Given the description of an element on the screen output the (x, y) to click on. 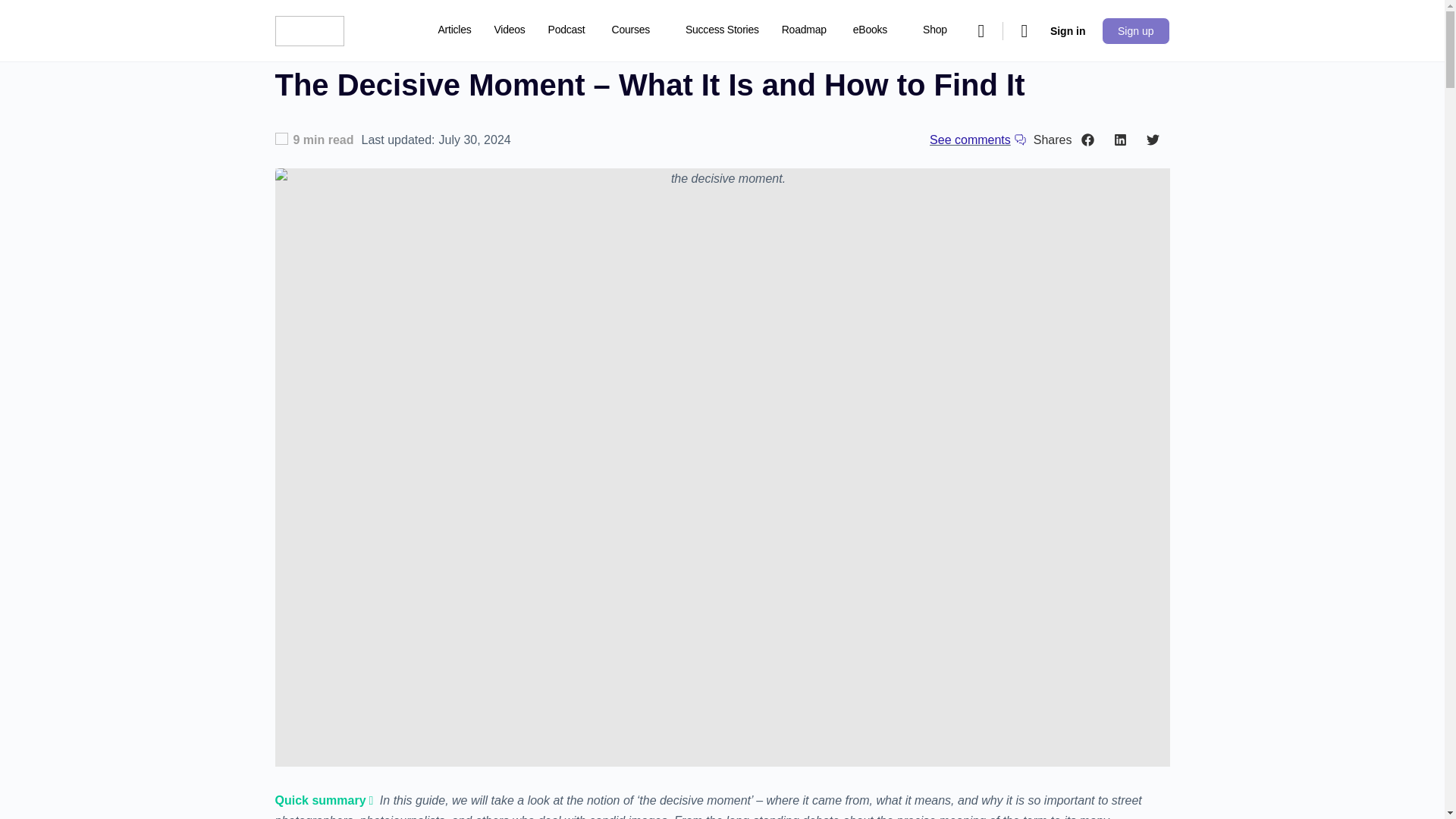
Sign in (1067, 30)
Trend Report 2024 (480, 91)
Sign up (1135, 30)
Success Stories (722, 30)
Courses (636, 30)
Roadmap (804, 30)
eBooks (876, 30)
